Given the description of an element on the screen output the (x, y) to click on. 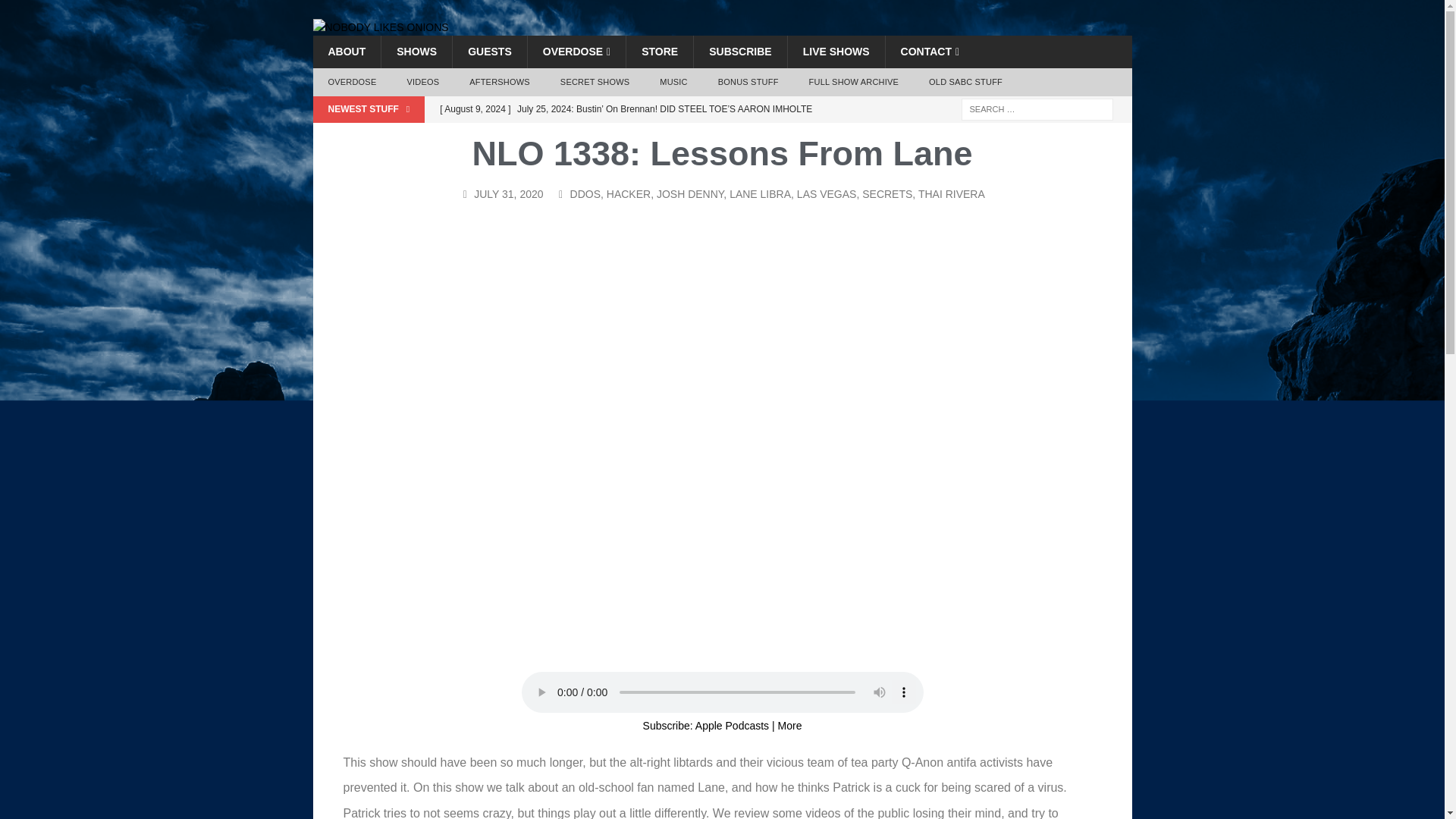
SUBSCRIBE (739, 51)
VIDEOS (422, 82)
BONUS STUFF (748, 82)
MUSIC (673, 82)
More (789, 725)
AFTERSHOWS (499, 82)
ABOUT (346, 51)
HACKER (628, 193)
Subscribe on Apple Podcasts (731, 725)
OLD SABC STUFF (965, 82)
